Given the description of an element on the screen output the (x, y) to click on. 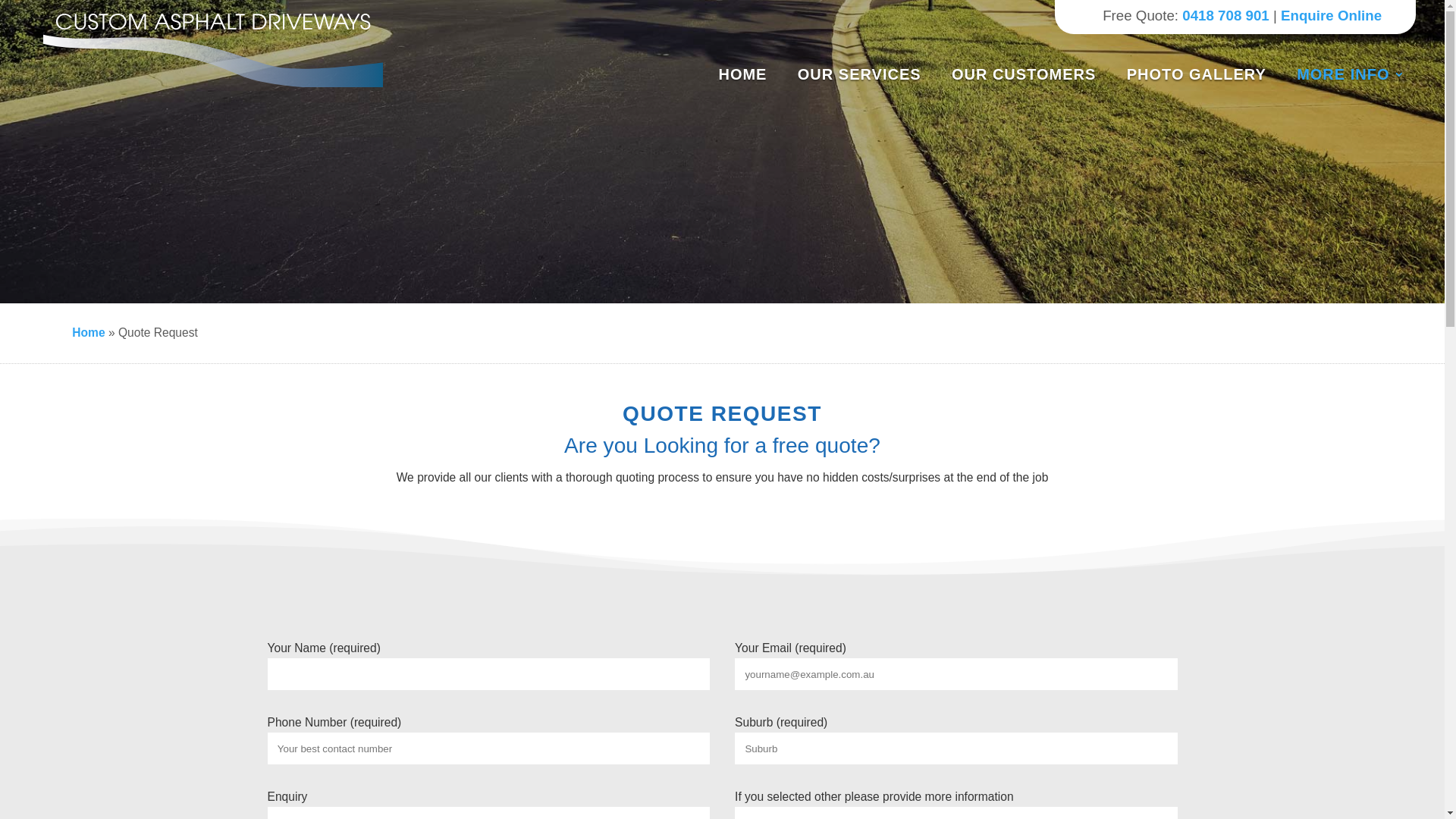
MORE INFO Element type: text (1350, 74)
PHOTO GALLERY Element type: text (1202, 74)
OUR CUSTOMERS Element type: text (1029, 74)
OUR SERVICES Element type: text (865, 74)
HOME Element type: text (748, 74)
Home Element type: text (88, 332)
Enquire Online Element type: text (1330, 15)
0418 708 901 Element type: text (1225, 15)
